Given the description of an element on the screen output the (x, y) to click on. 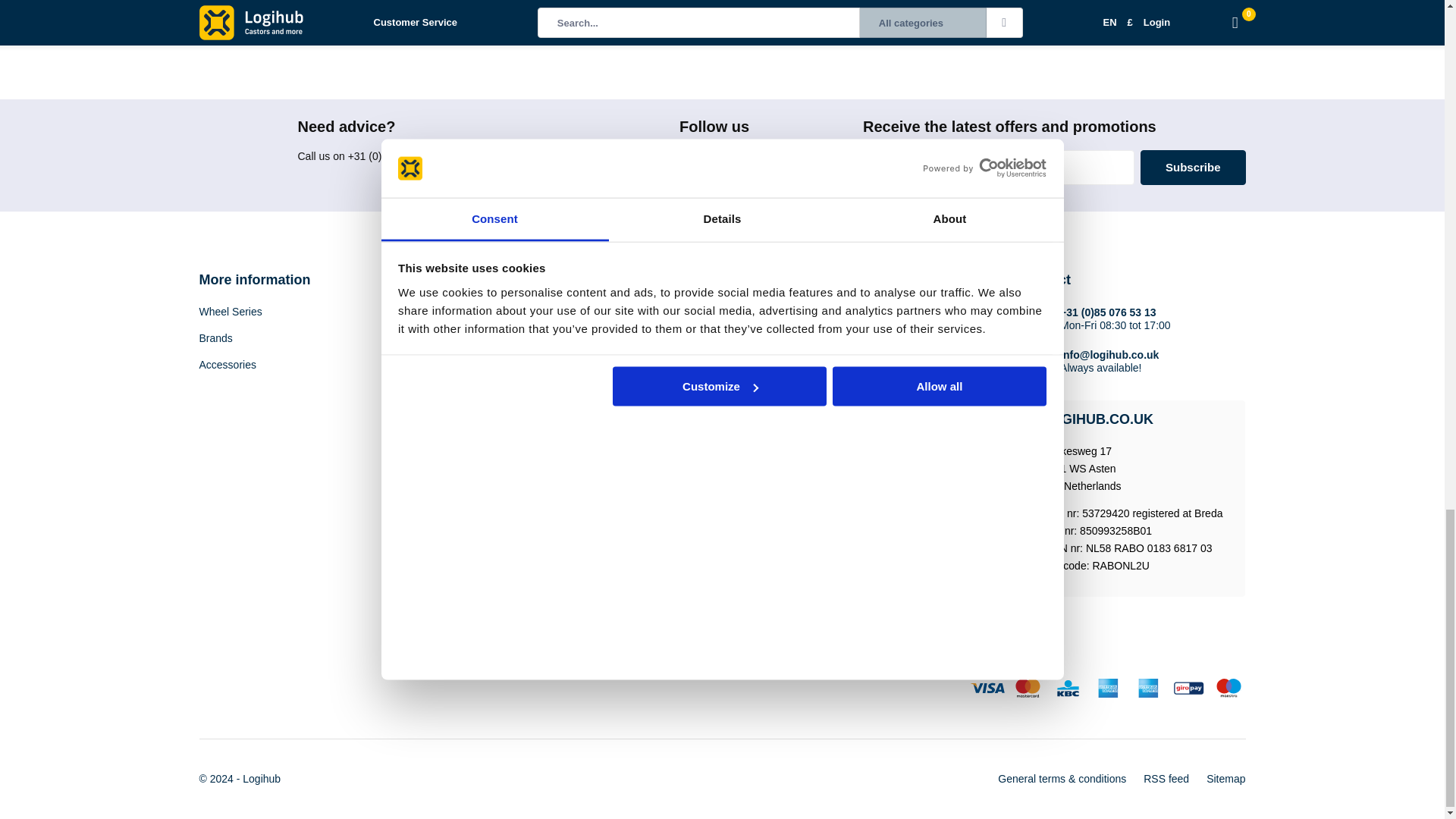
1 (259, 8)
